Given the description of an element on the screen output the (x, y) to click on. 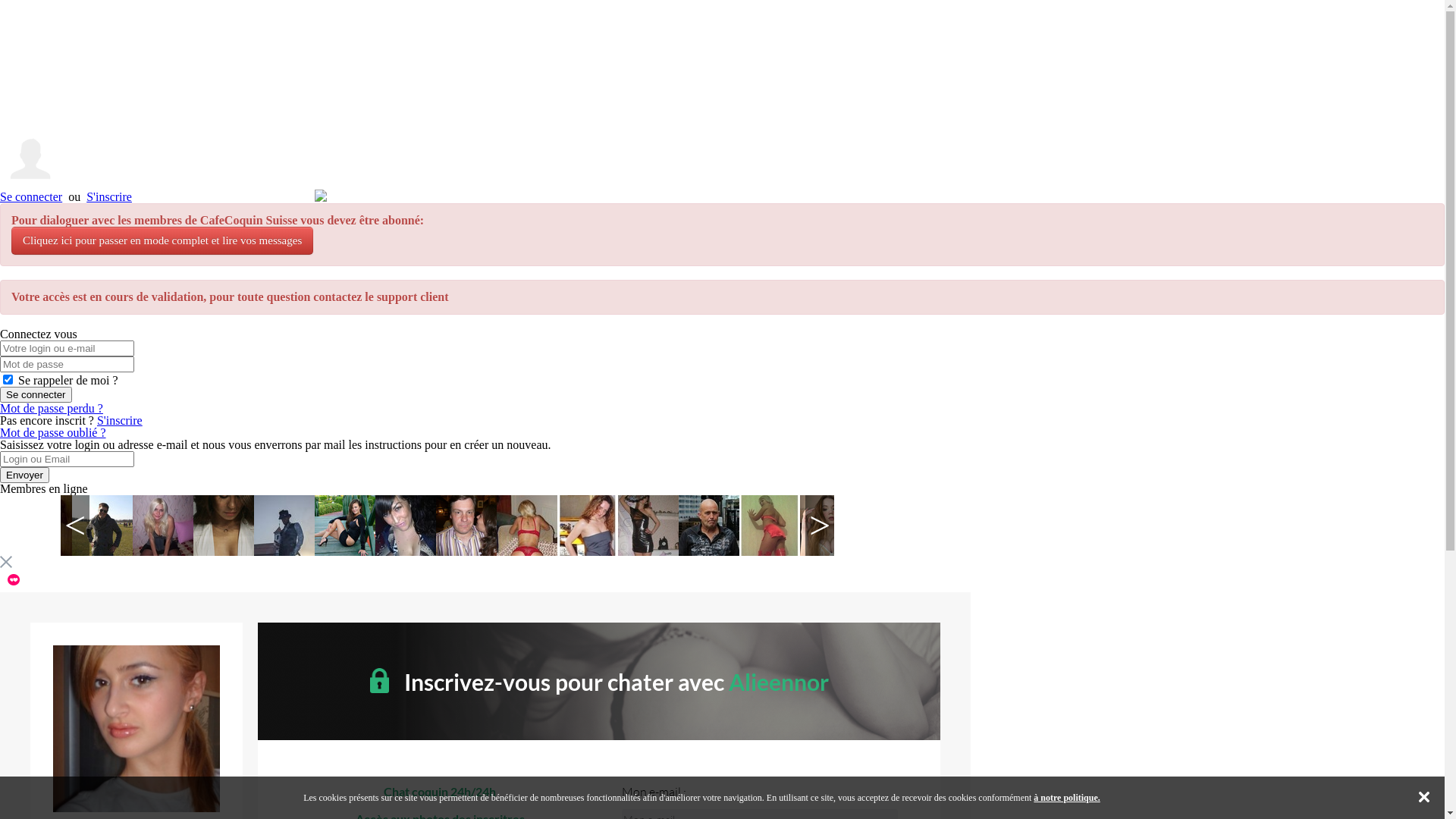
S'inscrire Element type: text (108, 196)
Se connecter  ou  S'inscrire Element type: text (722, 165)
Se connecter Element type: text (36, 394)
Next Element type: text (819, 525)
S'inscrire Element type: text (119, 420)
Envoyer Element type: text (24, 475)
Previous Element type: text (74, 525)
Se connecter Element type: text (31, 196)
Cliquez ici pour passer en mode complet et lire vos messages Element type: text (162, 240)
Mot de passe perdu ? Element type: text (51, 407)
